Given the description of an element on the screen output the (x, y) to click on. 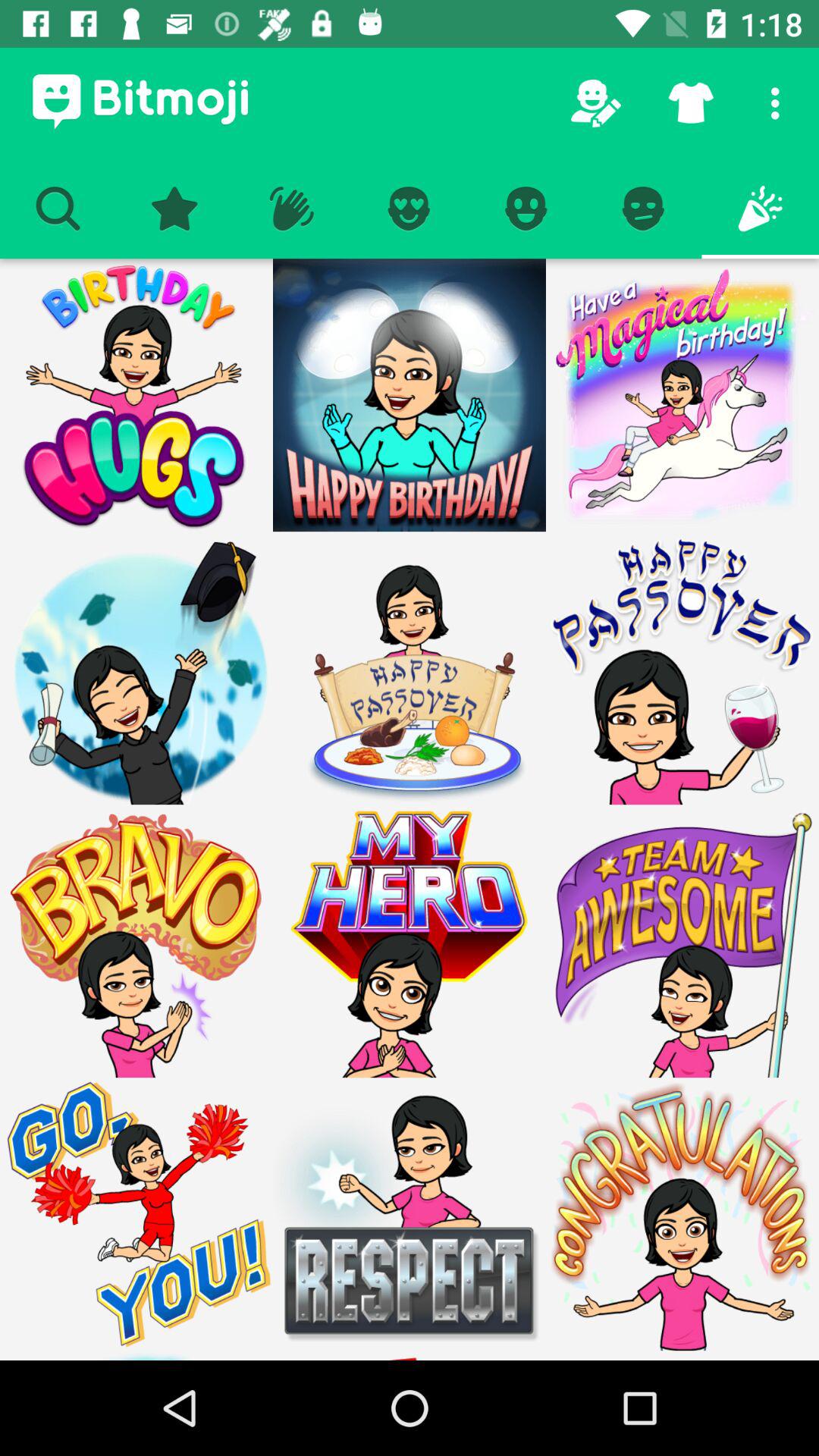
select the more images (409, 394)
